Given the description of an element on the screen output the (x, y) to click on. 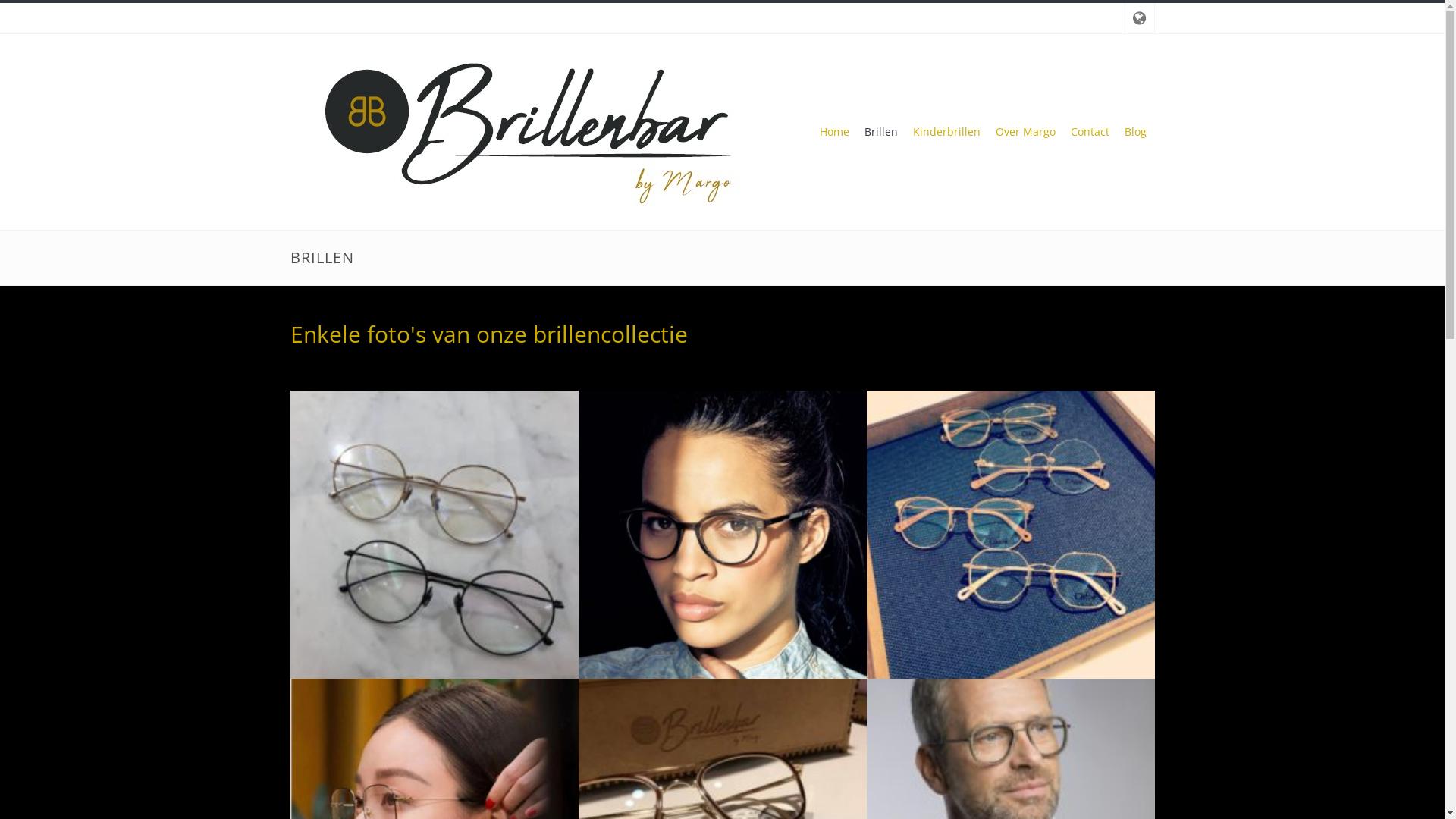
Home Element type: text (834, 131)
Contact Element type: text (1090, 131)
Brillen Element type: text (880, 131)
Over Margo Element type: text (1025, 131)
Blog Element type: text (1135, 131)
Kinderbrillen Element type: text (946, 131)
